Given the description of an element on the screen output the (x, y) to click on. 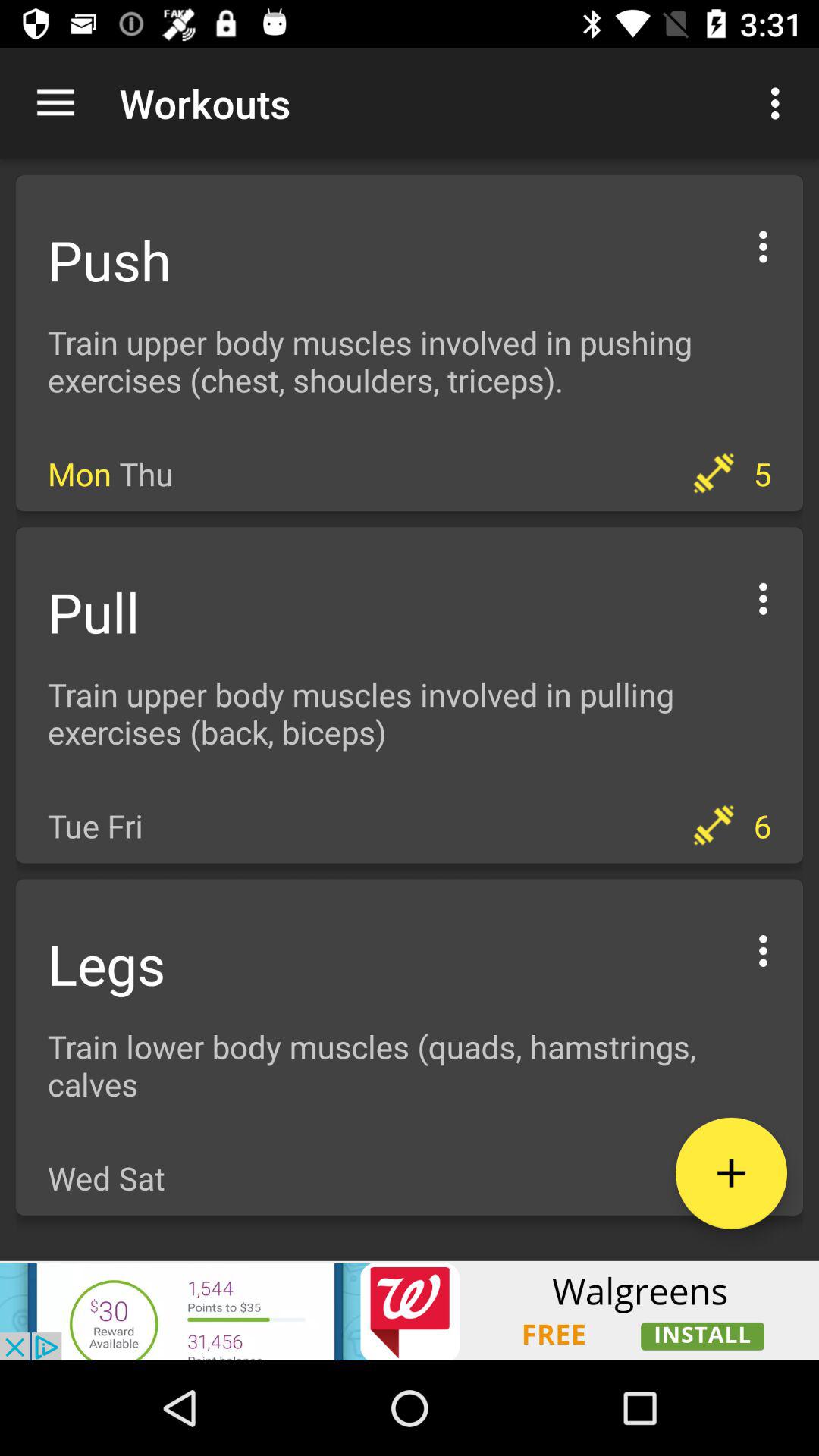
open (763, 244)
